Given the description of an element on the screen output the (x, y) to click on. 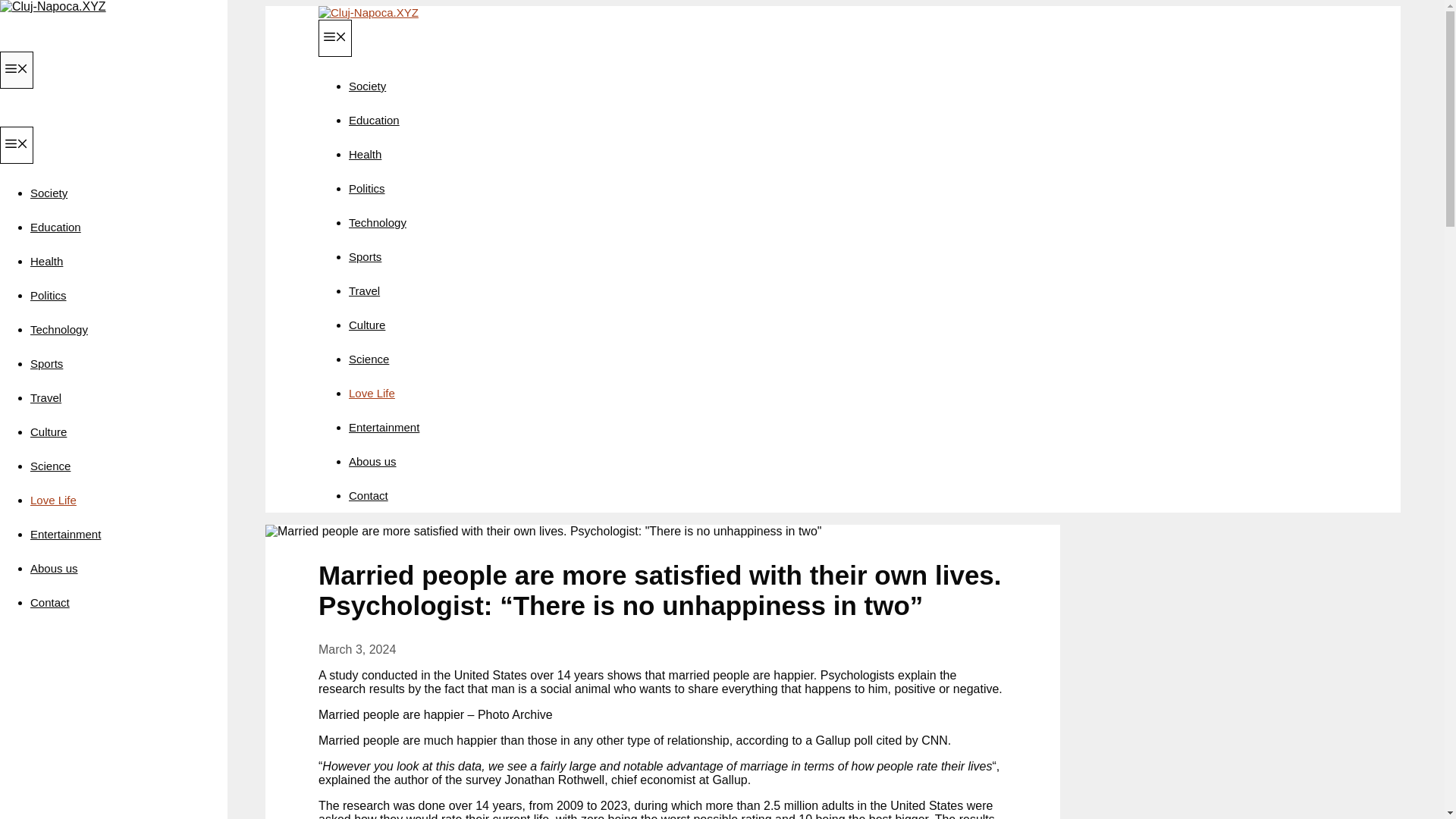
Science (49, 465)
Politics (367, 187)
Technology (58, 328)
Entertainment (384, 427)
Sports (365, 256)
Health (365, 154)
Education (373, 119)
Technology (377, 222)
Contact (49, 602)
Abous us (372, 461)
